Given the description of an element on the screen output the (x, y) to click on. 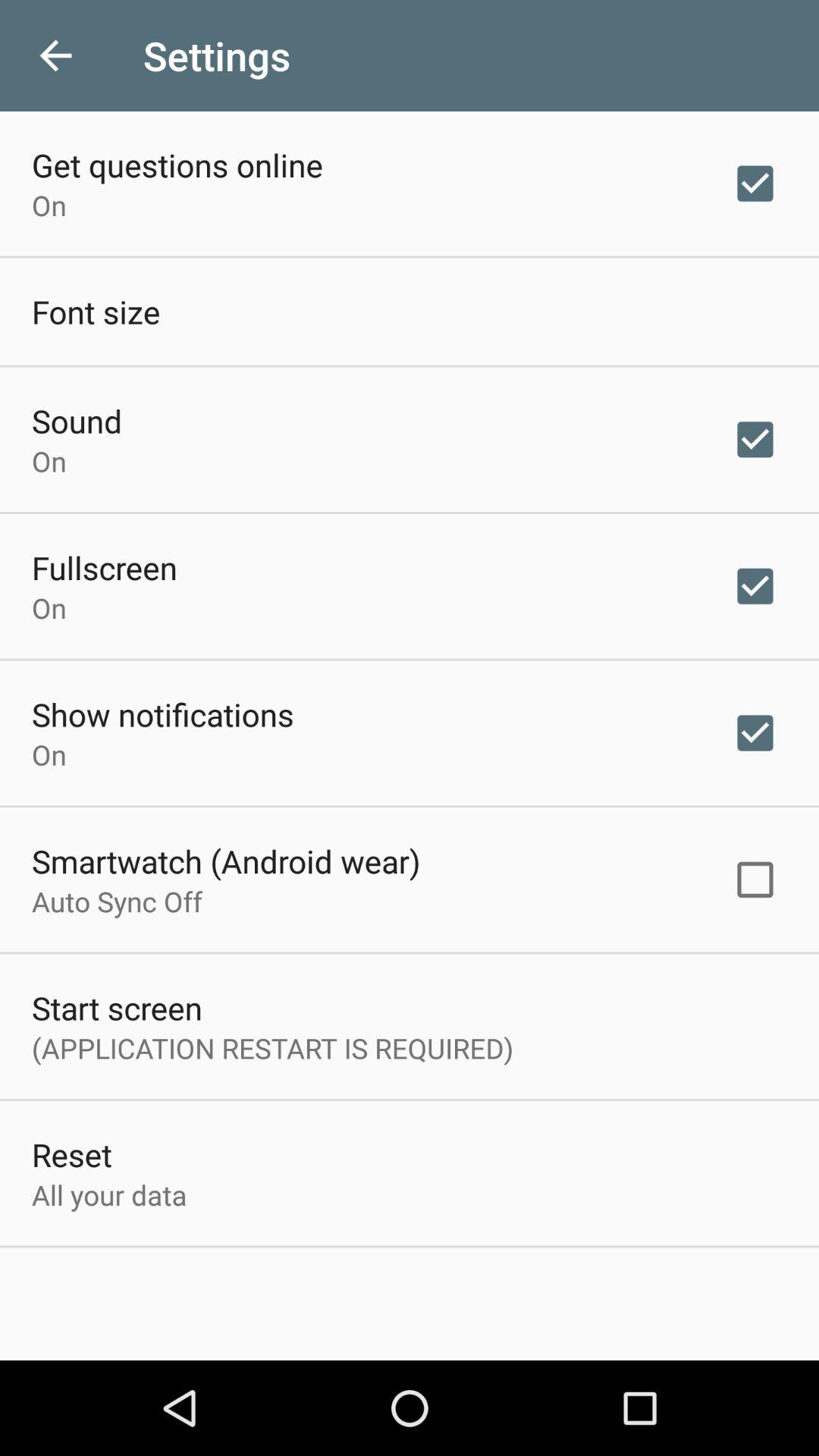
press the icon above reset item (272, 1047)
